Given the description of an element on the screen output the (x, y) to click on. 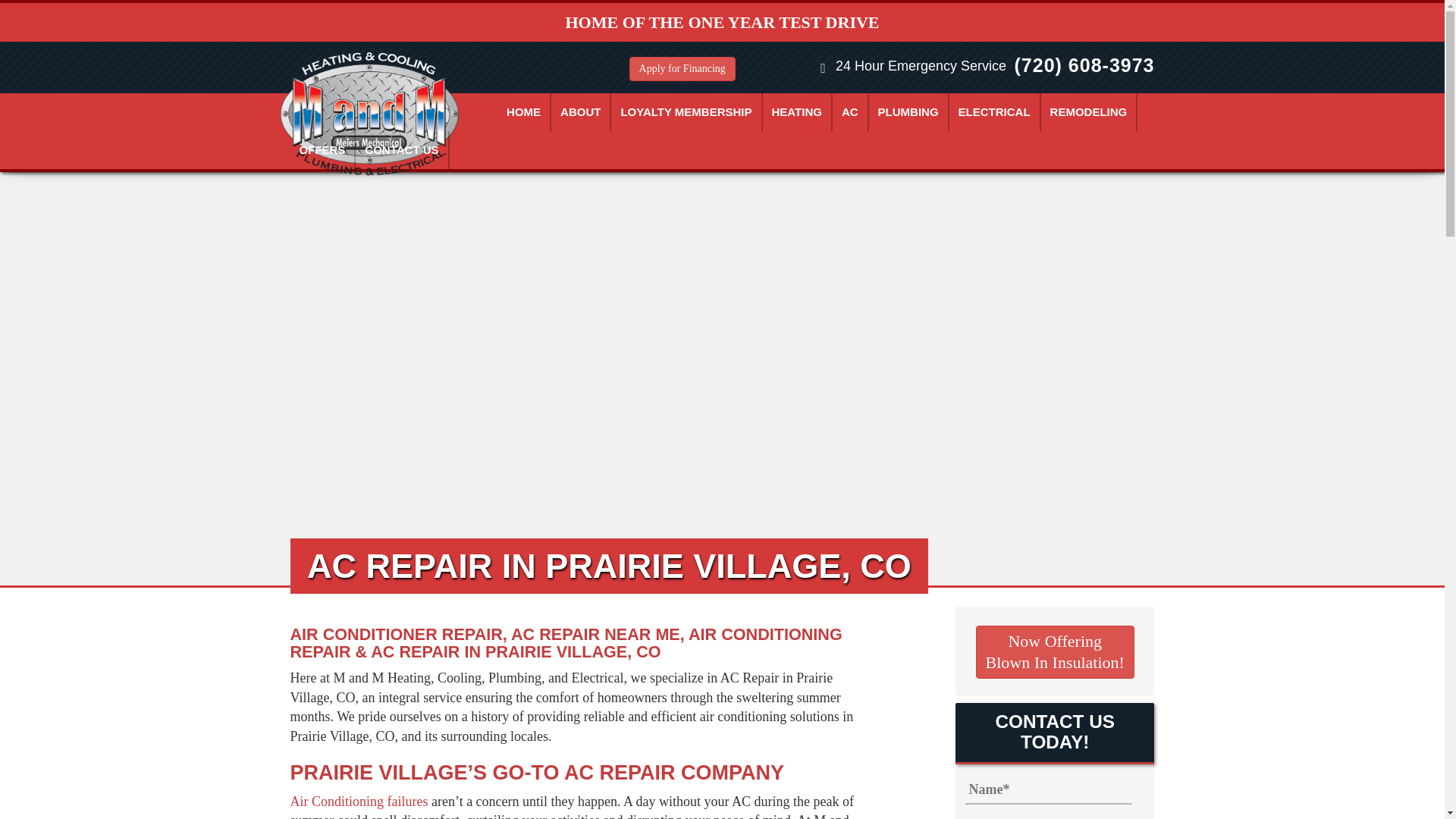
LOYALTY MEMBERSHIP (685, 112)
AC (849, 112)
HOME (523, 112)
HEATING (796, 112)
ABOUT (580, 112)
Apply for Financing (681, 68)
